Given the description of an element on the screen output the (x, y) to click on. 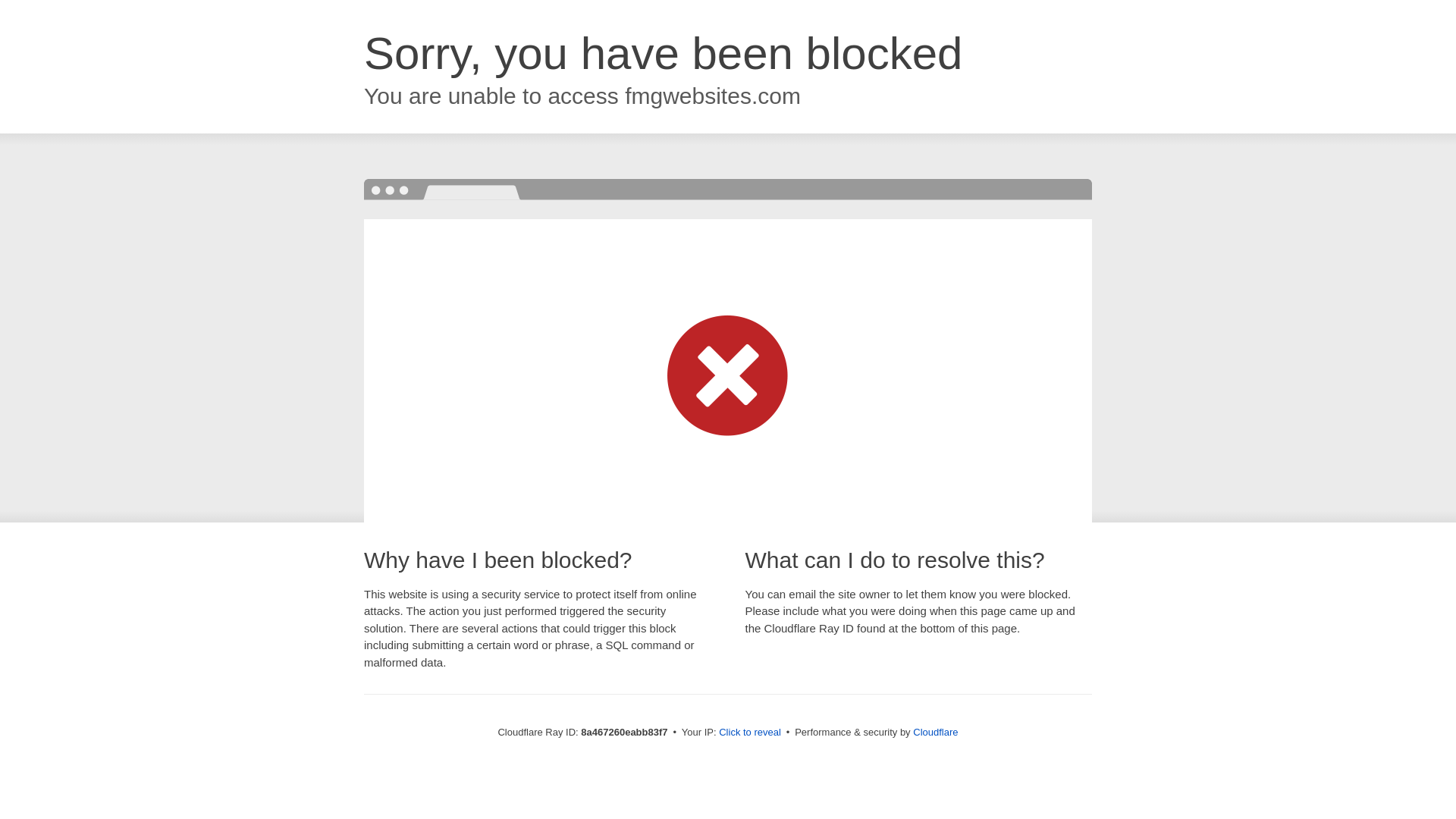
Click to reveal (749, 732)
Cloudflare (935, 731)
